Given the description of an element on the screen output the (x, y) to click on. 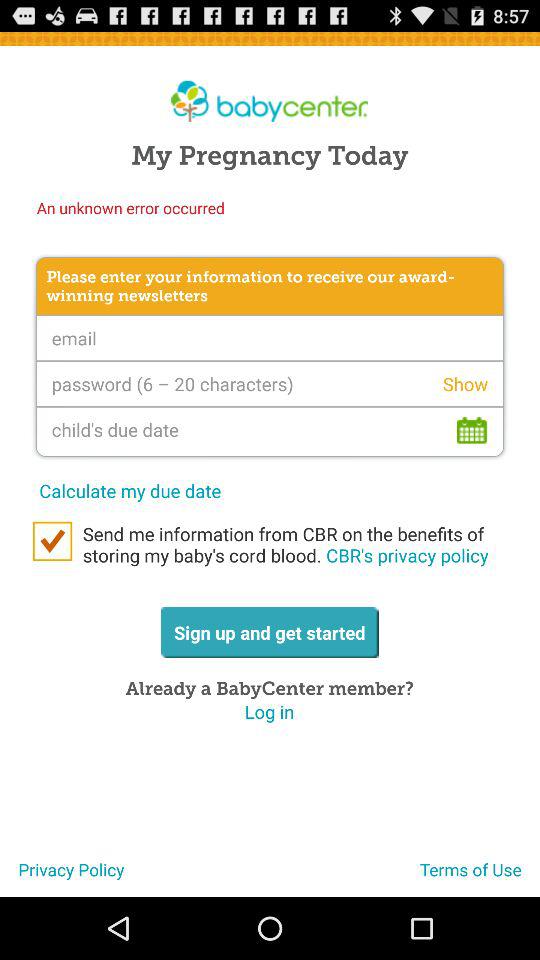
choose the show (465, 383)
